Given the description of an element on the screen output the (x, y) to click on. 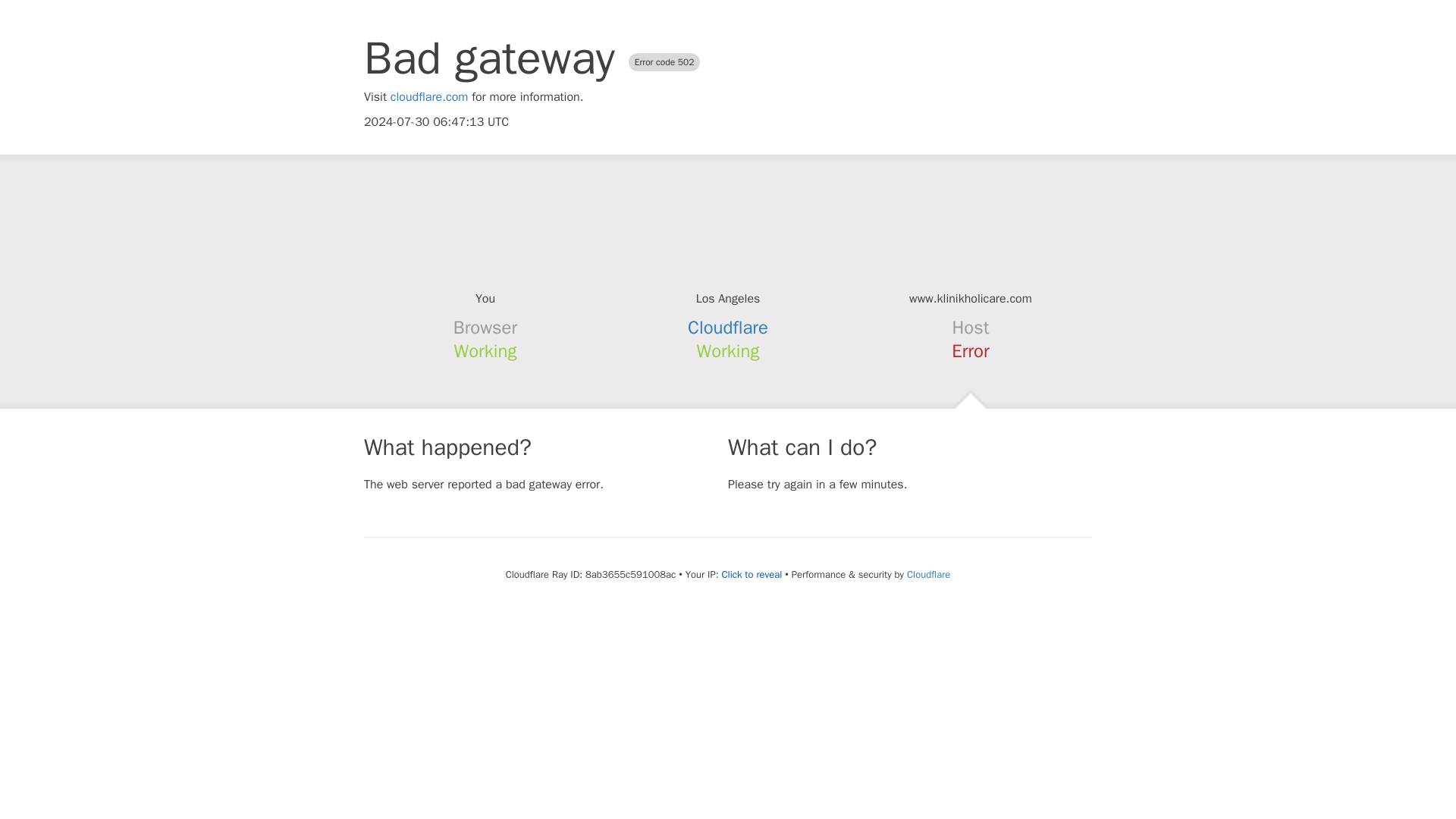
Click to reveal (750, 574)
cloudflare.com (429, 96)
Cloudflare (727, 327)
Cloudflare (928, 574)
